Given the description of an element on the screen output the (x, y) to click on. 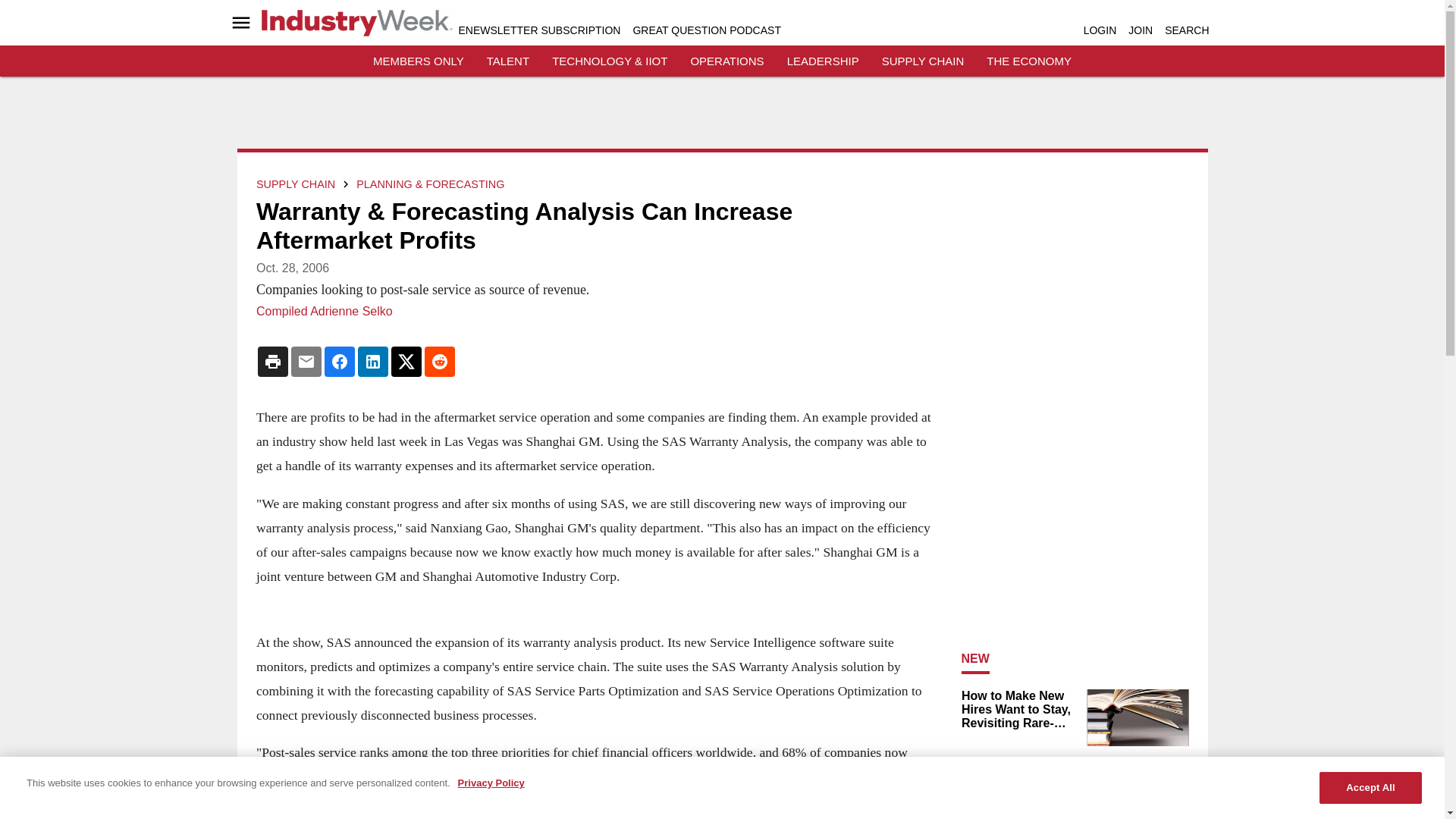
TALENT (507, 60)
OPERATIONS (726, 60)
GREAT QUESTION PODCAST (705, 30)
SUPPLY CHAIN (922, 60)
ENEWSLETTER SUBSCRIPTION (539, 30)
MEMBERS ONLY (418, 60)
LOGIN (1099, 30)
THE ECONOMY (1029, 60)
SEARCH (1186, 30)
SUPPLY CHAIN (295, 184)
